Given the description of an element on the screen output the (x, y) to click on. 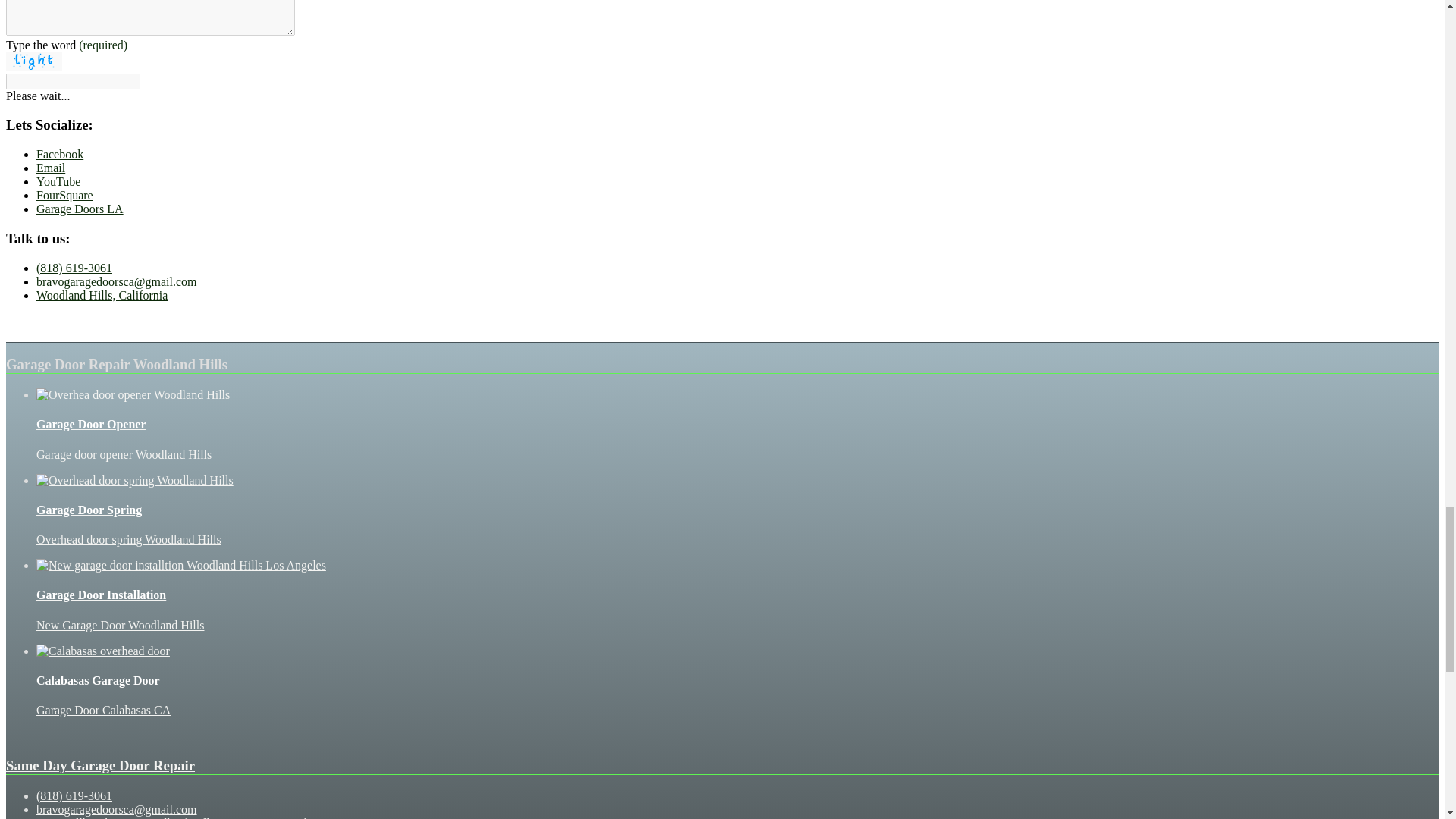
Email (50, 167)
YouTube (58, 181)
Garage Doors Los Angeles (79, 208)
Facebook (59, 154)
FourSquare (64, 195)
